Given the description of an element on the screen output the (x, y) to click on. 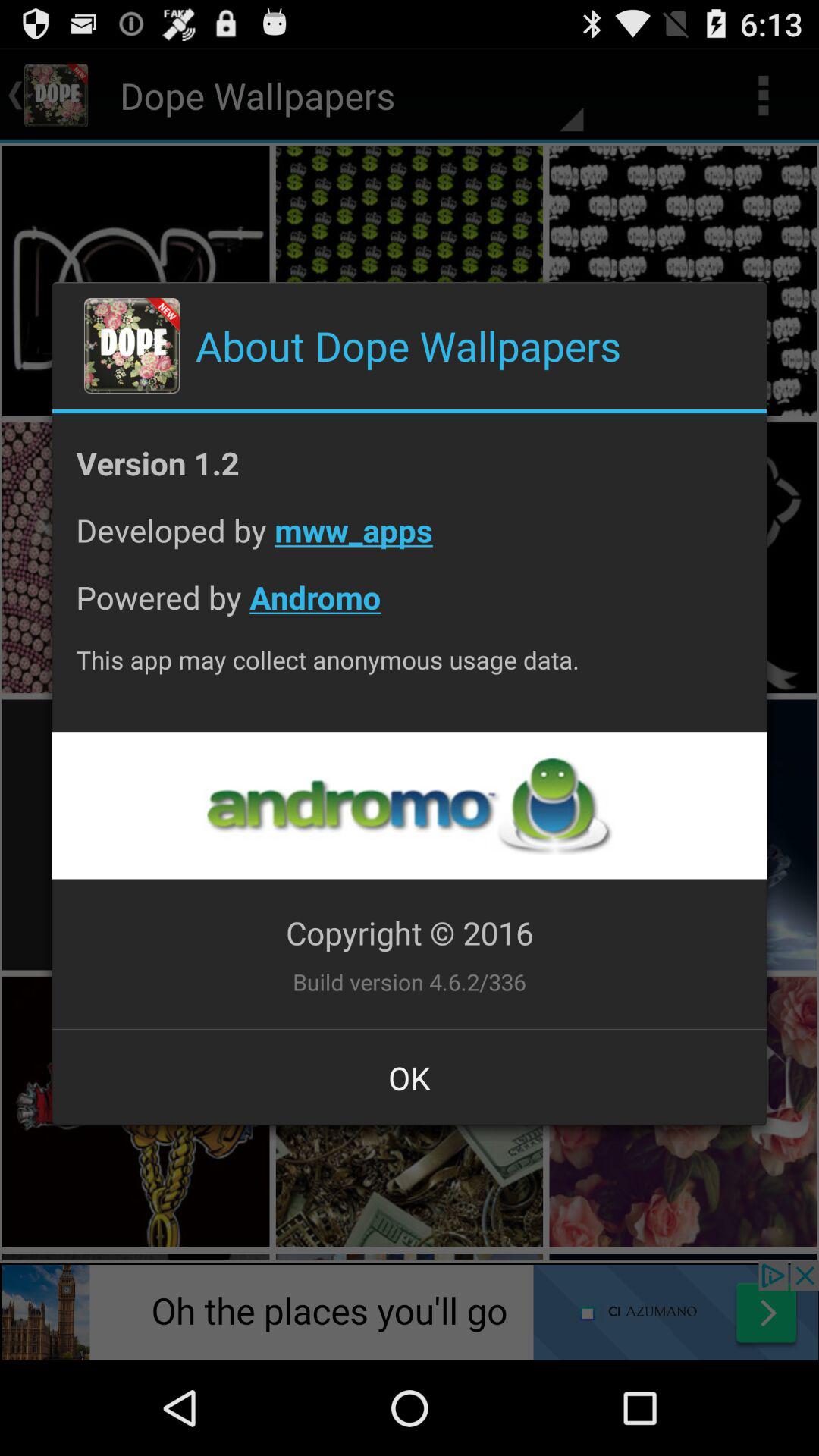
launch item above this app may app (409, 608)
